Given the description of an element on the screen output the (x, y) to click on. 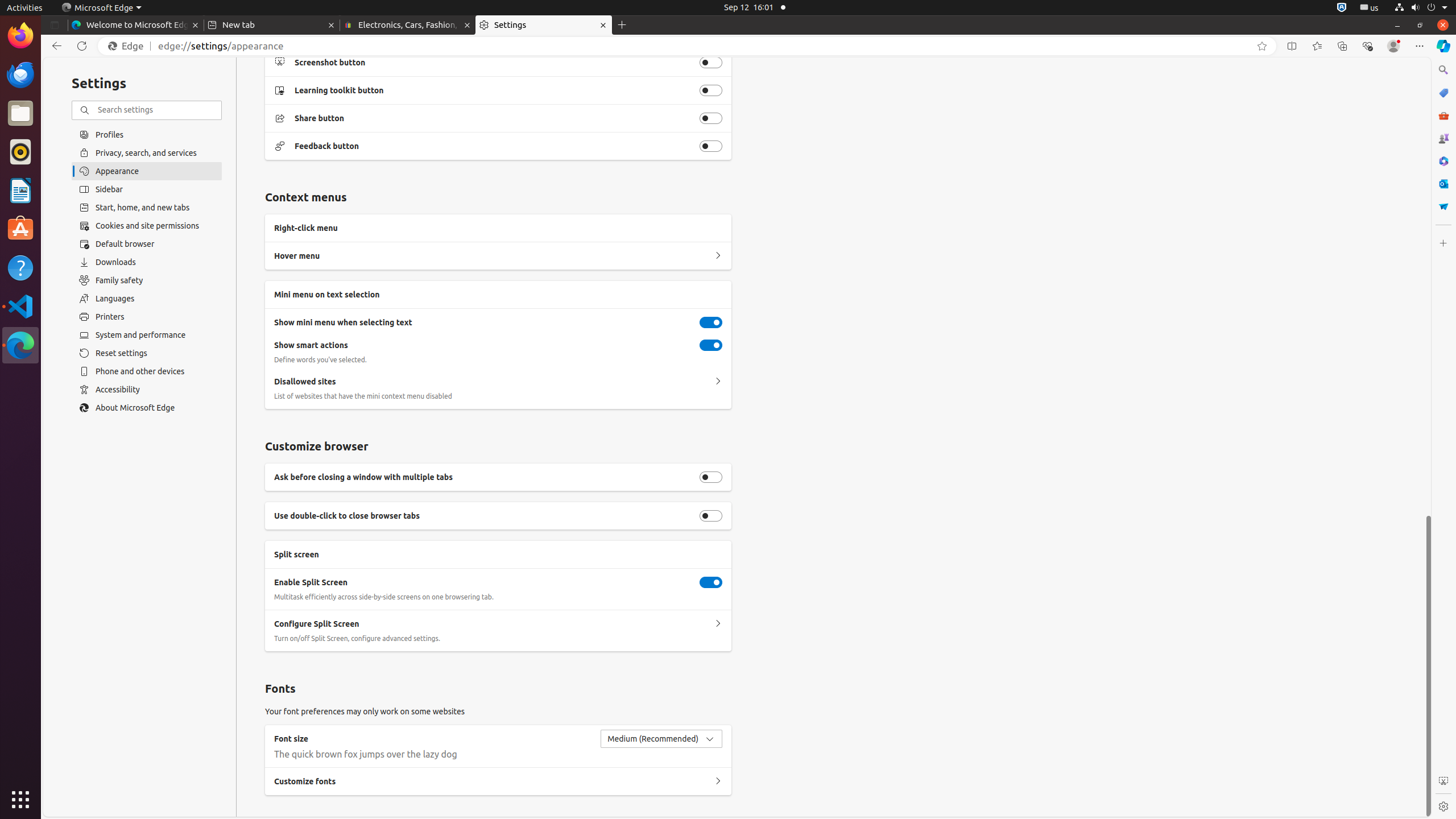
Microsoft Edge Element type: push-button (20, 344)
Customize Element type: push-button (1443, 243)
Search Element type: push-button (1443, 69)
Profiles Element type: tree-item (146, 134)
Screenshot button Element type: check-box (710, 62)
